Given the description of an element on the screen output the (x, y) to click on. 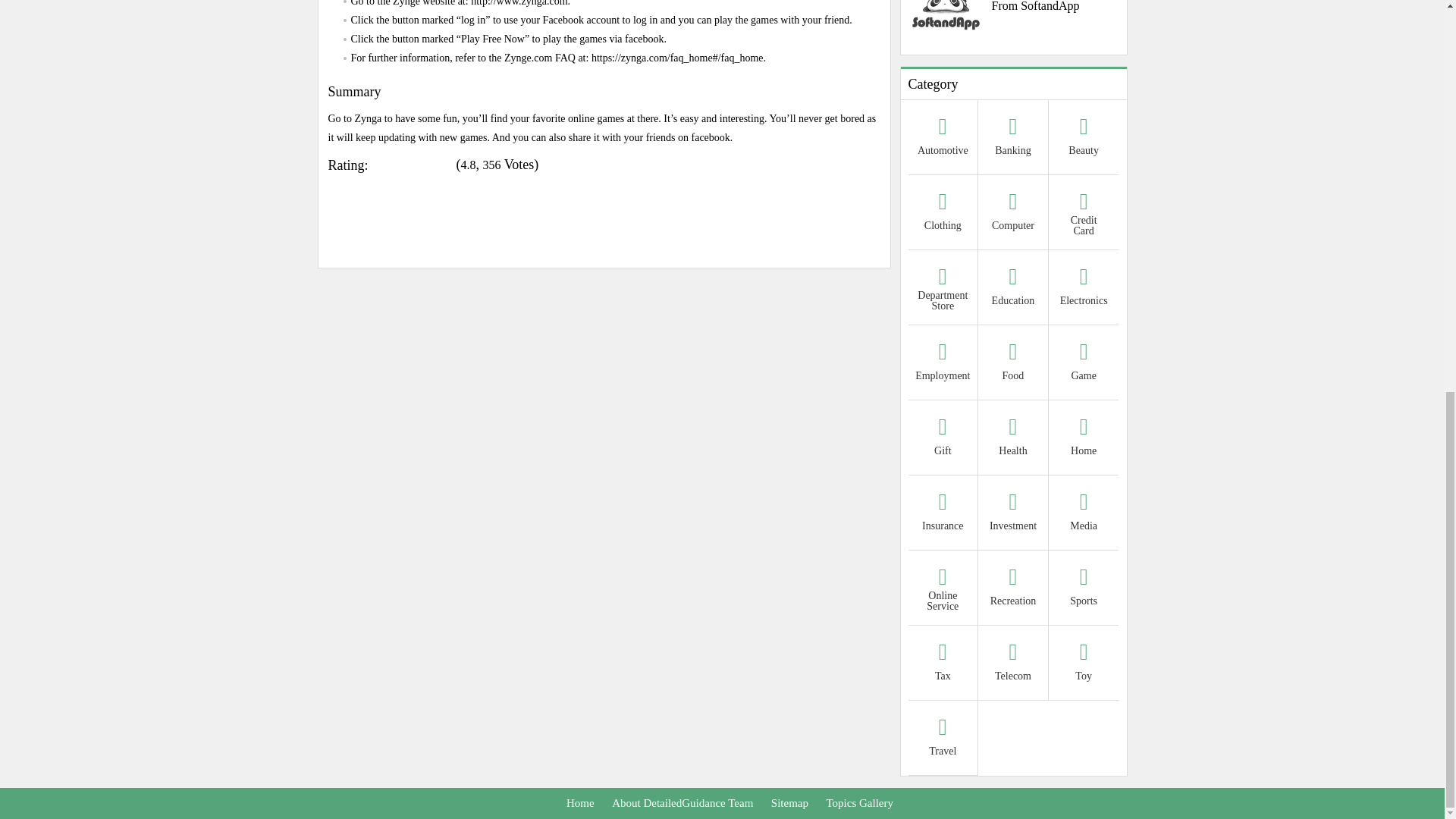
How to Install Google Earth to Your Phone From SoftandApp (1013, 7)
Computer (1013, 214)
Gift (943, 439)
Game (1083, 364)
Clothing (943, 214)
Automotive (943, 138)
Education (1013, 288)
via facebook (635, 38)
Credit Card (1083, 214)
Home (1083, 439)
Food (1013, 364)
Health (1013, 439)
Employment (943, 364)
Banking (1013, 138)
Electronics (1083, 288)
